Given the description of an element on the screen output the (x, y) to click on. 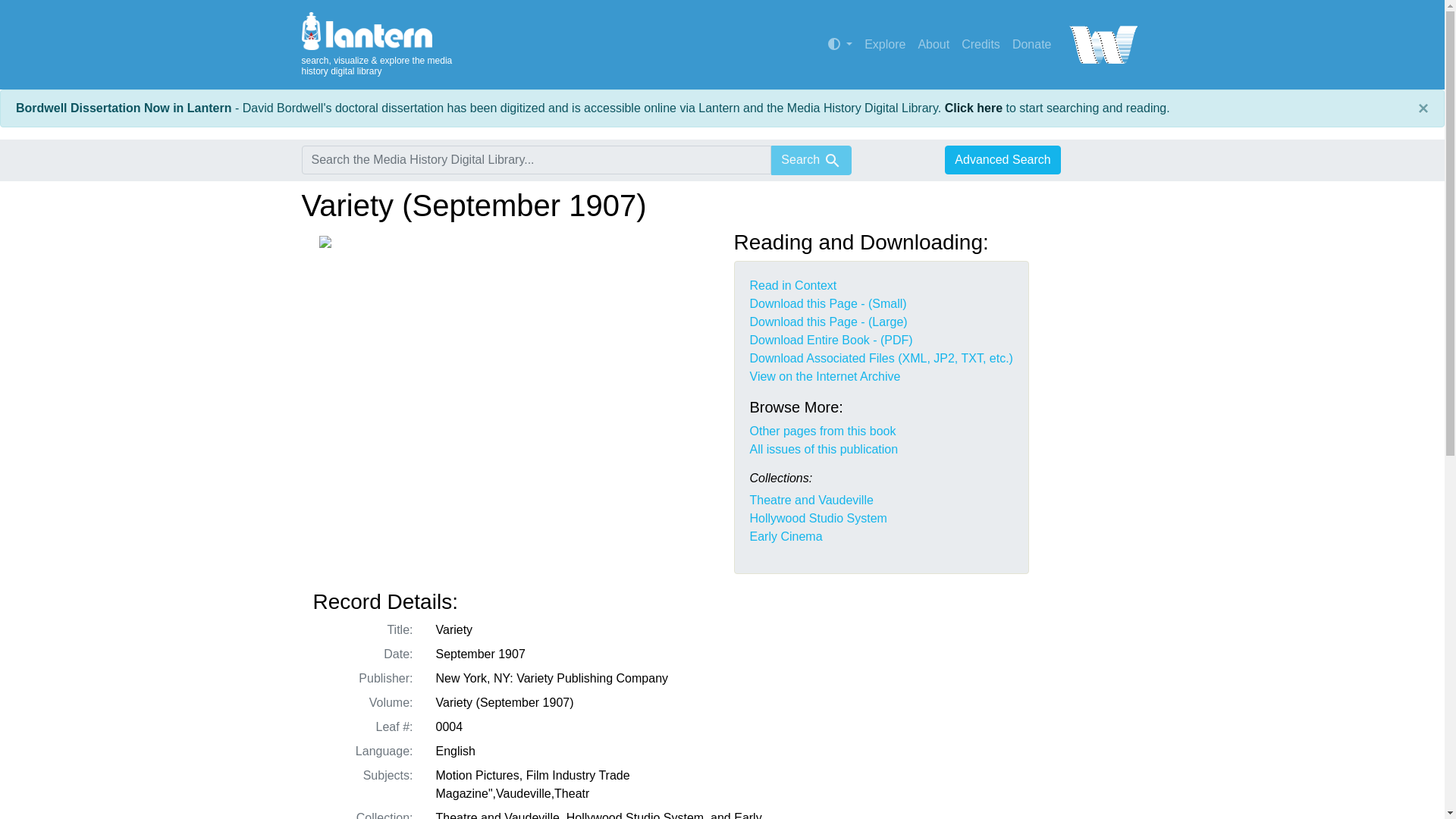
Wisconsin Center for Film and Theater Research (1099, 44)
Hollywood Studio System (817, 517)
Other pages from this book (822, 431)
Skip to search (37, 9)
All issues of this publication (823, 449)
Skip to main content (39, 9)
Search Search (810, 160)
Read in Context (792, 285)
Search (832, 160)
Lantern (396, 30)
About (933, 44)
Theatre and Vaudeville (810, 499)
Explore (885, 44)
Credits (980, 44)
Advanced Search (1001, 159)
